Given the description of an element on the screen output the (x, y) to click on. 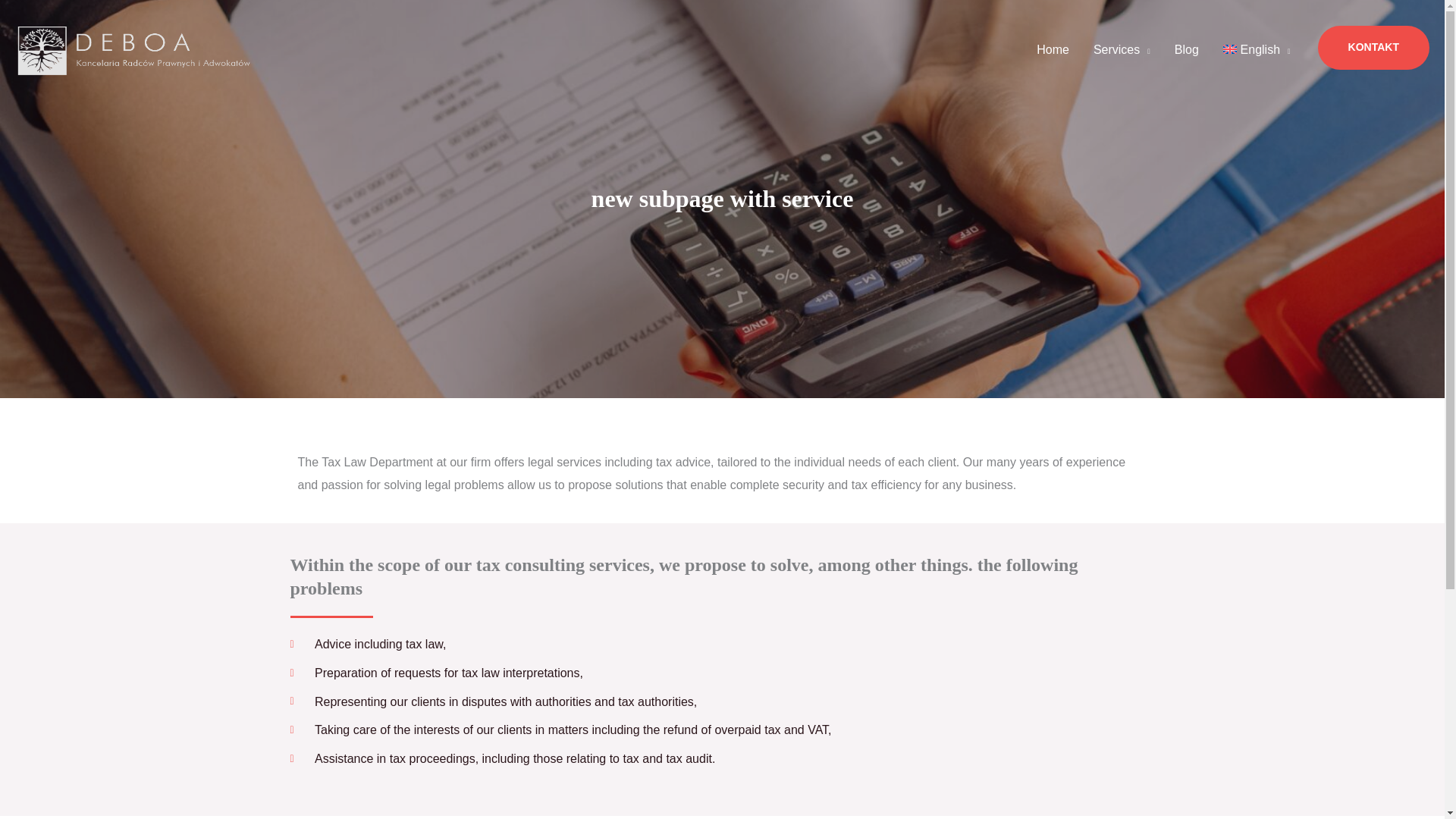
KONTAKT (1373, 47)
Blog (1186, 49)
English (1257, 49)
Home (1053, 49)
English (1257, 49)
Services (1121, 49)
